Given the description of an element on the screen output the (x, y) to click on. 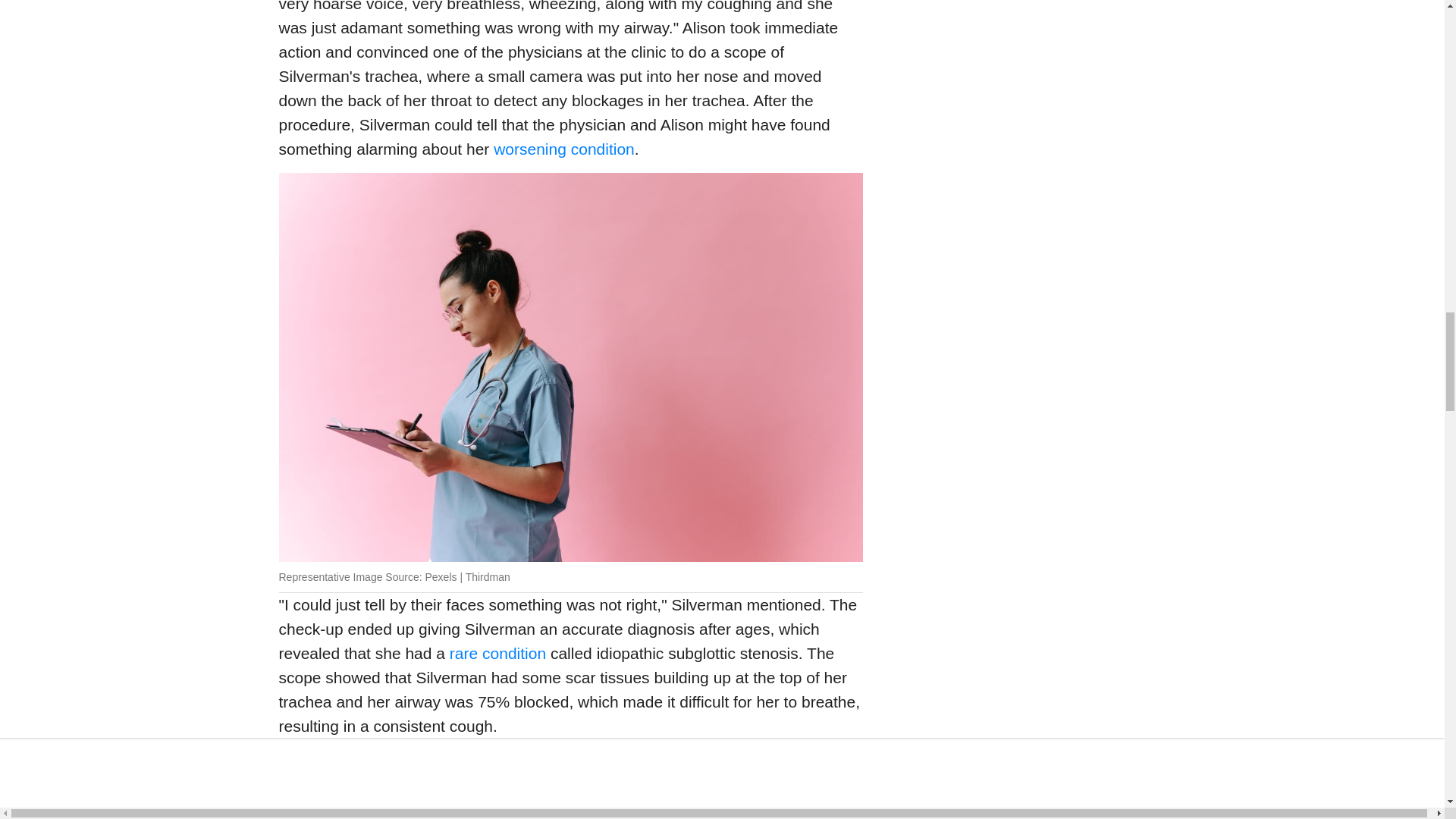
rare condition (497, 652)
worsening condition (563, 149)
